Given the description of an element on the screen output the (x, y) to click on. 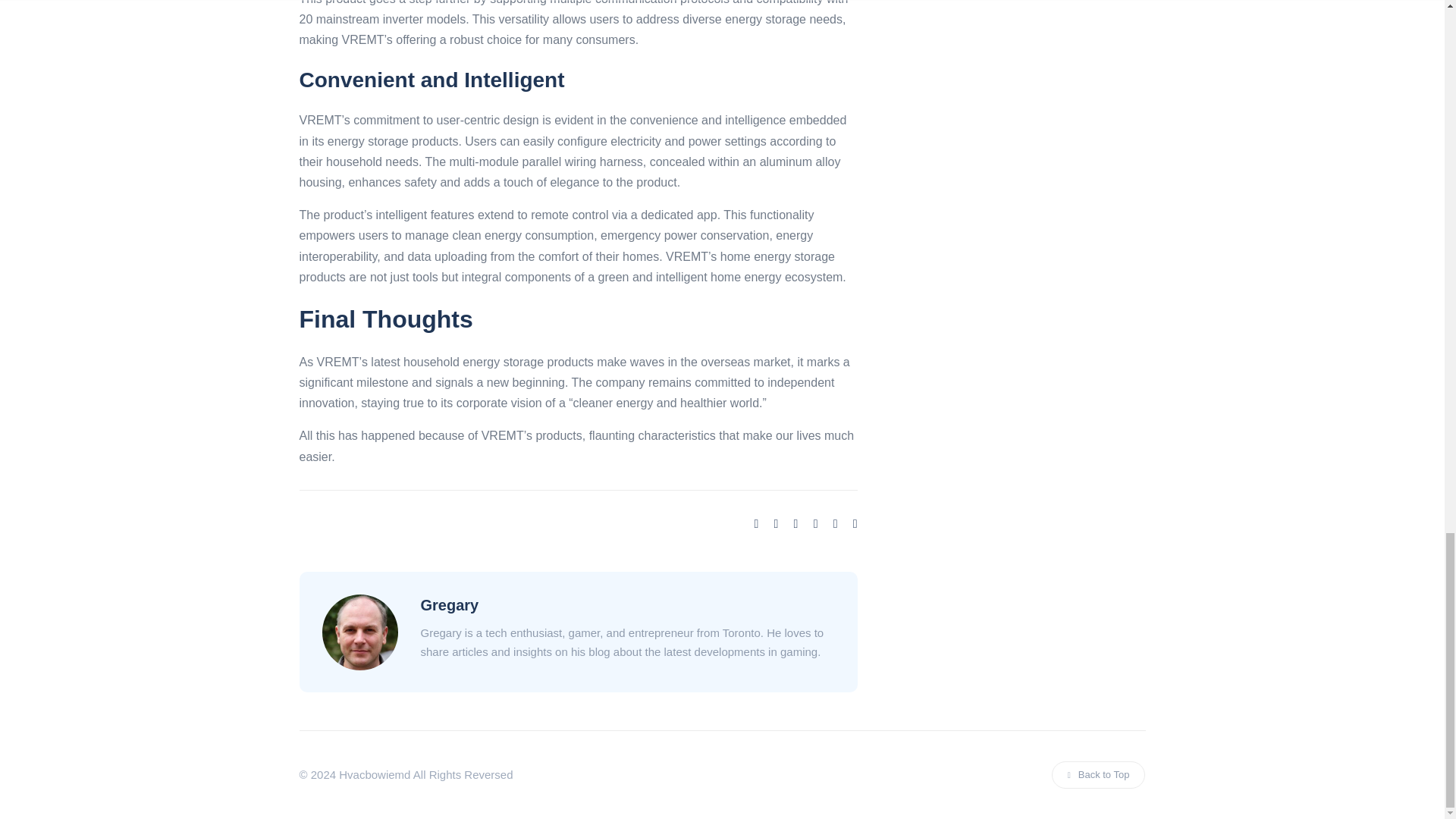
Gregary (449, 605)
